Given the description of an element on the screen output the (x, y) to click on. 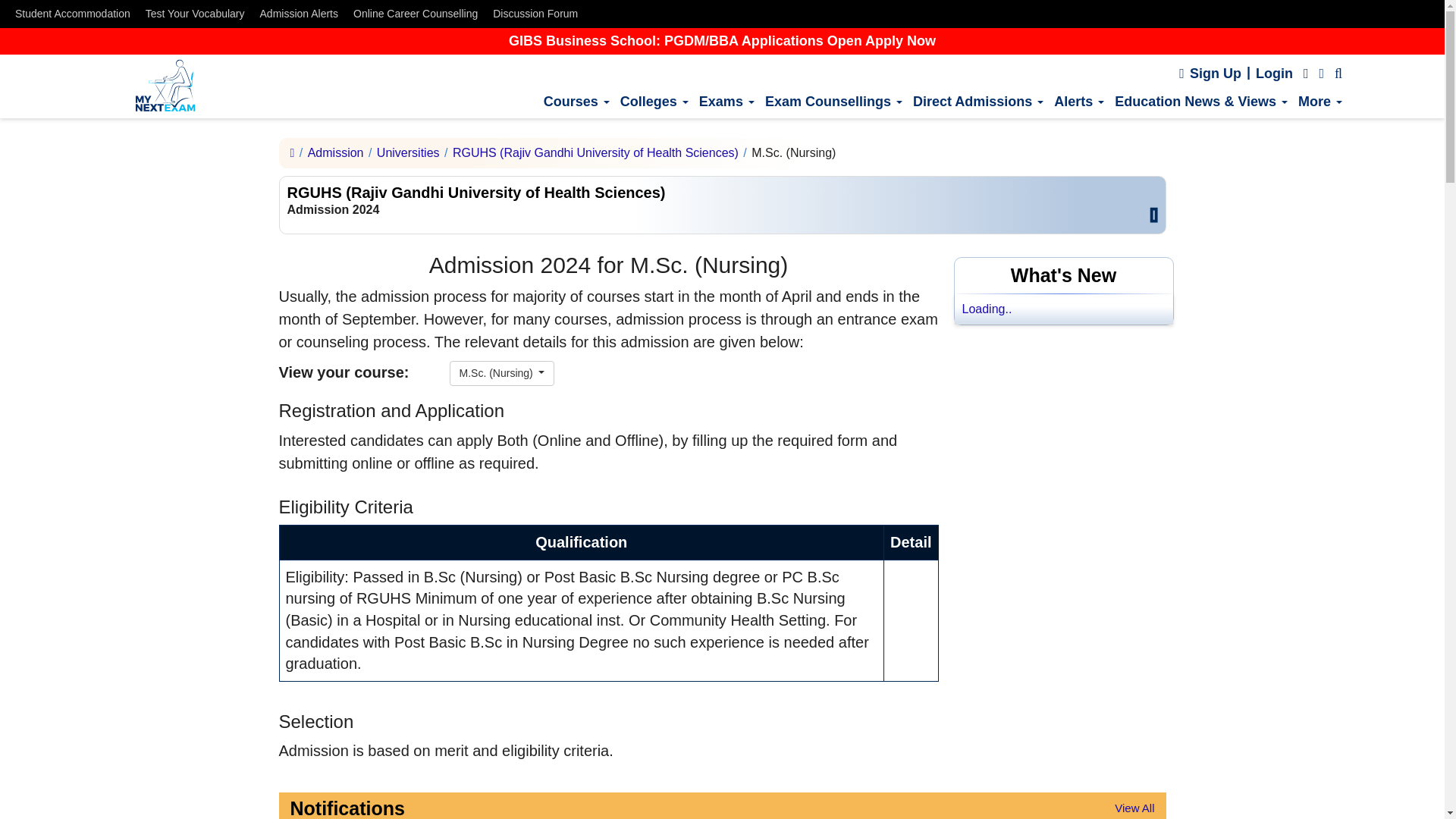
Courses (576, 95)
Online Career Counselling (415, 14)
Discussion Forum (534, 14)
Student Accommodation (72, 14)
Admission Alerts (298, 14)
Login (1274, 67)
Sign Up (1209, 67)
Test Your Vocabulary (194, 14)
